Given the description of an element on the screen output the (x, y) to click on. 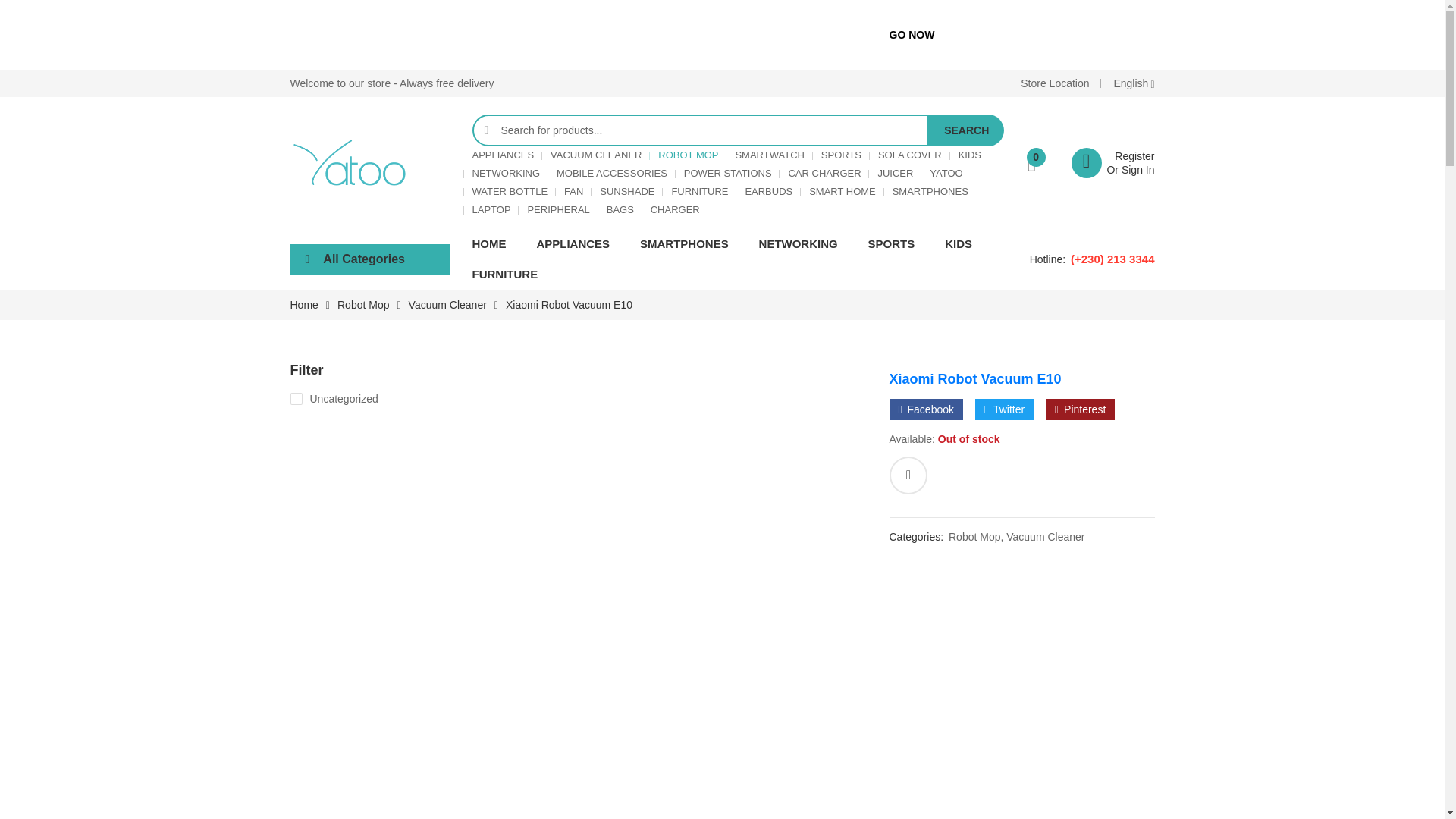
SMARTWATCH (769, 155)
KIDS (969, 155)
English (1133, 83)
YATOO (946, 173)
WATER BOTTLE (509, 191)
ROBOT MOP (687, 155)
Twitter (1004, 409)
FAN (573, 191)
MOBILE ACCESSORIES (611, 173)
FURNITURE (699, 191)
CHARGER (675, 209)
POWER STATIONS (727, 173)
SMARTPHONES (930, 191)
CAR CHARGER (823, 173)
APPLIANCES (502, 155)
